Given the description of an element on the screen output the (x, y) to click on. 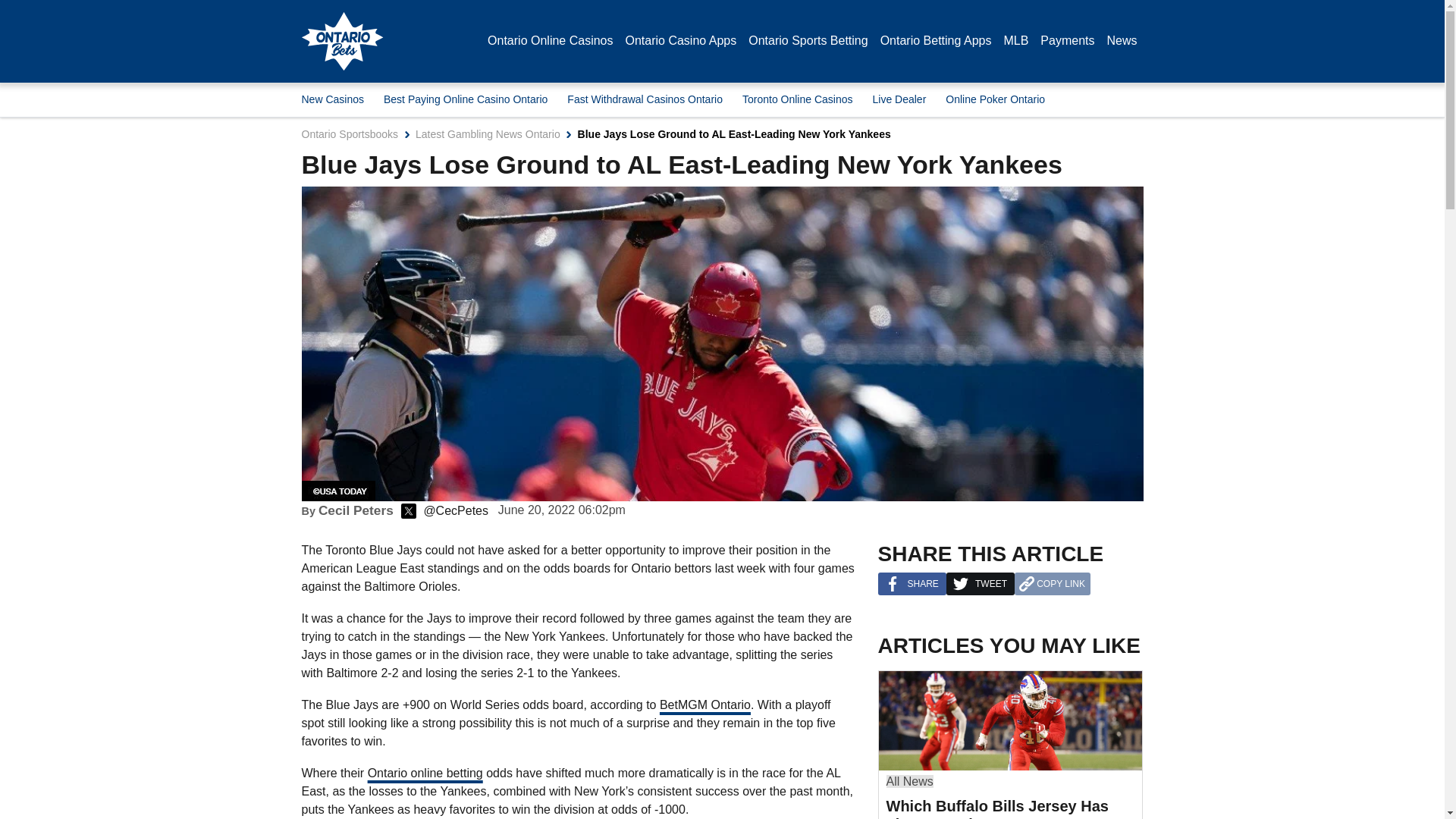
Which Buffalo Bills Jersey Has The Best Win Loss Percentage? (1009, 720)
Ontario Betting Apps (935, 40)
Ontario Sportsbooks (349, 133)
Ontario Online Casinos (549, 40)
Payments (1067, 40)
Ontario Casino Apps (680, 40)
Ontario Sports Betting (807, 40)
Latest Gambling News Ontario (487, 133)
OntarioBets.com logo (342, 41)
